Given the description of an element on the screen output the (x, y) to click on. 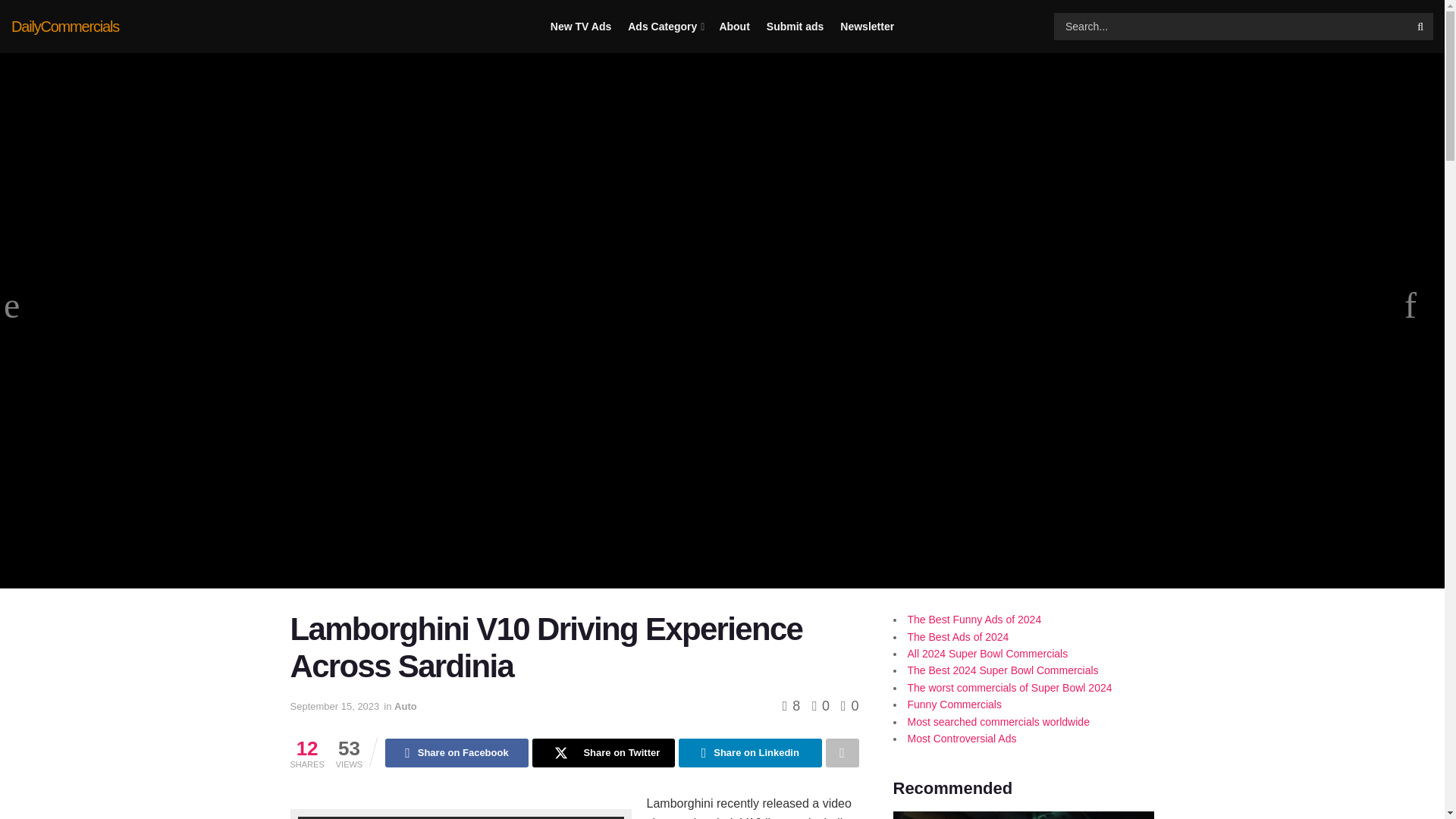
Newsletter (866, 26)
DailyCommercials (65, 26)
New TV Ads (580, 26)
Submit ads (795, 26)
Ads Category (664, 26)
